Given the description of an element on the screen output the (x, y) to click on. 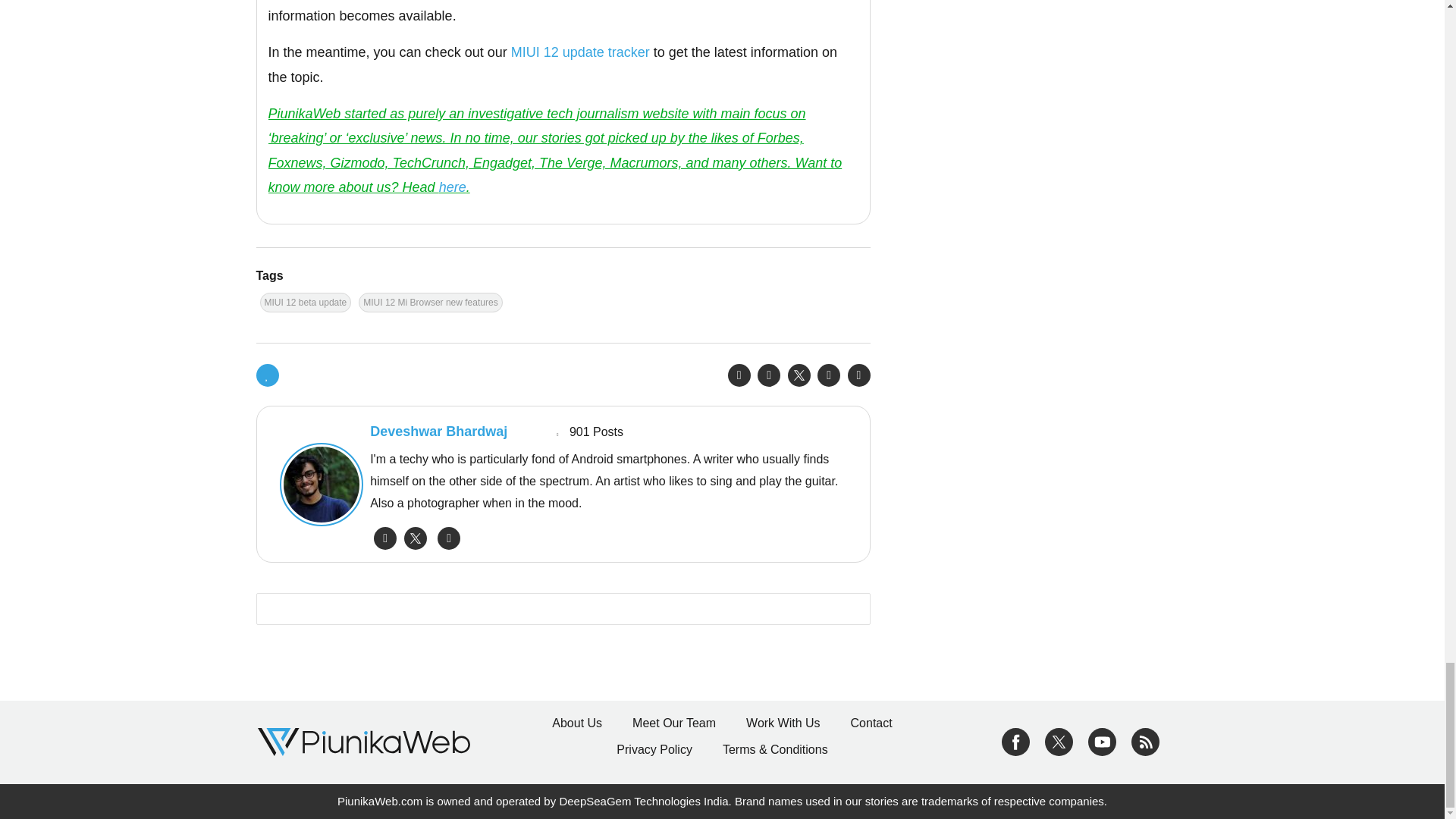
MIUI 12 Mi Browser new features (430, 302)
YouTube (1101, 740)
Deveshwar Bhardwaj (317, 484)
Feed (1144, 740)
MIUI 12 beta update (304, 302)
X (1059, 740)
Facebook (1015, 740)
Love (267, 374)
